Given the description of an element on the screen output the (x, y) to click on. 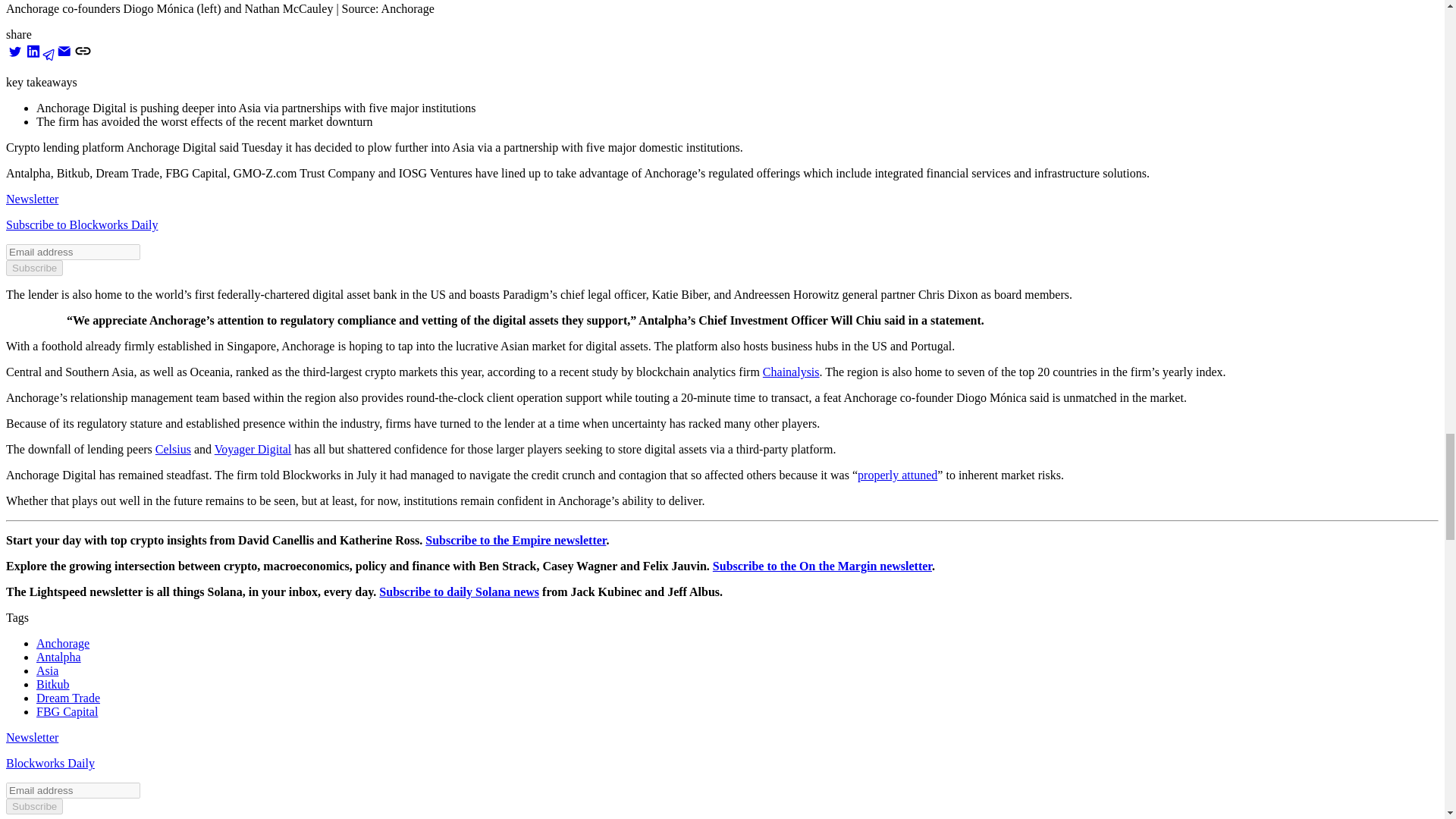
Newsletter (31, 198)
Asia (47, 670)
Celsius (172, 449)
Antalpha (58, 656)
Voyager Digital (252, 449)
Subscribe (33, 268)
Subscribe (33, 806)
Bitkub (52, 684)
Subscribe to Blockworks Daily (81, 224)
Newsletter (31, 737)
